Given the description of an element on the screen output the (x, y) to click on. 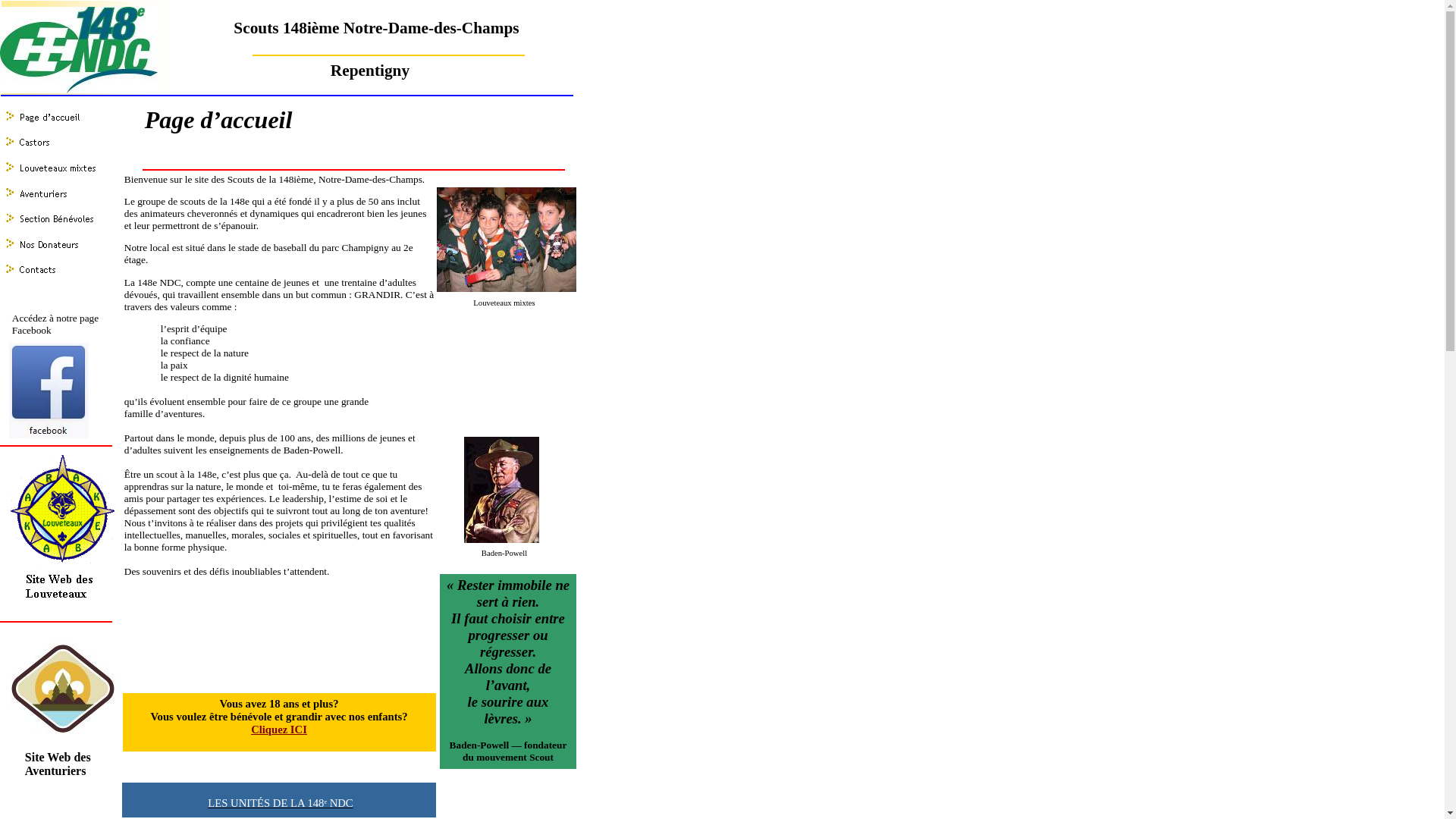
Cliquez ICI Element type: text (279, 729)
